Given the description of an element on the screen output the (x, y) to click on. 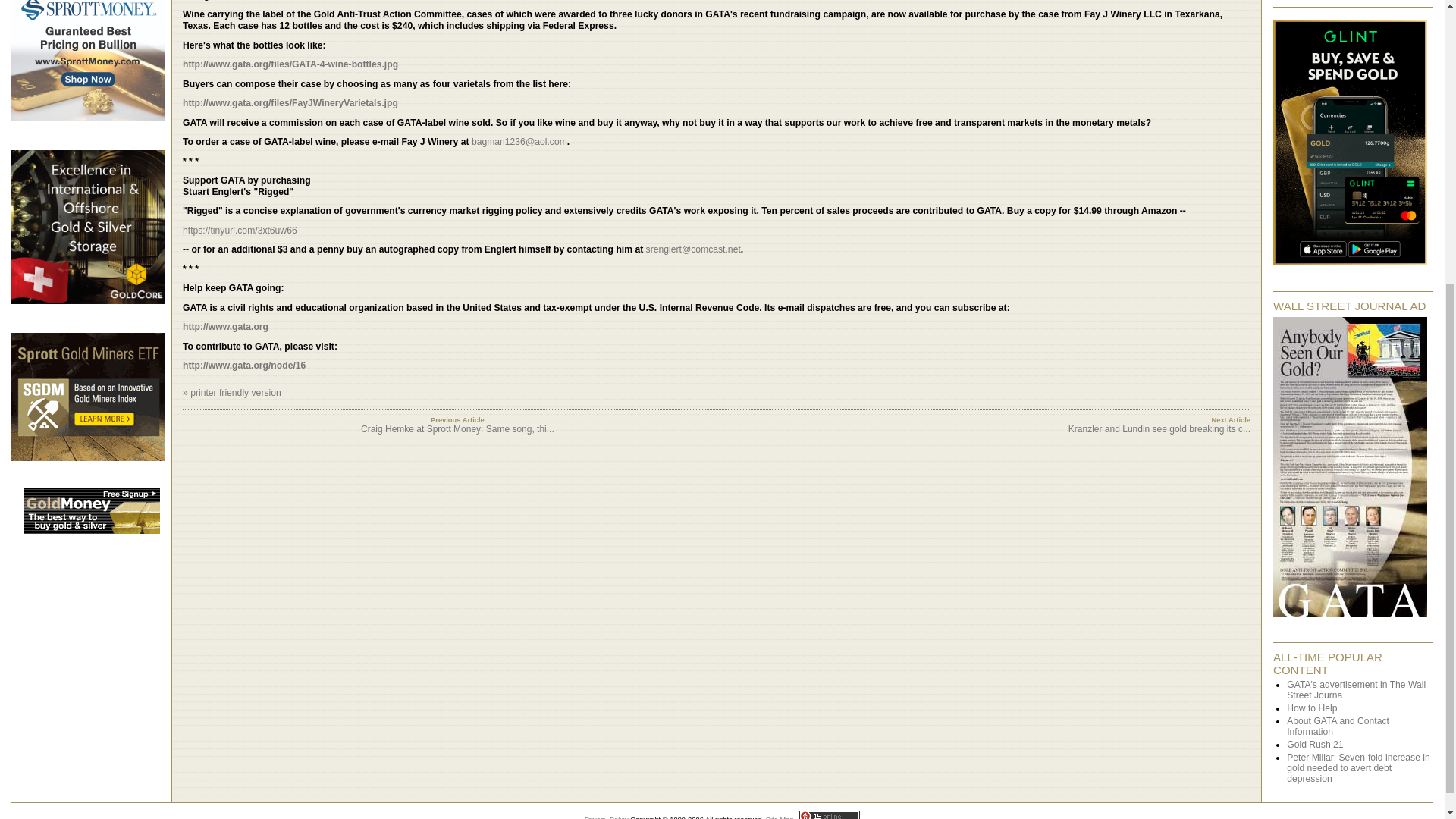
Kranzler and Lundin see gold breaking its c... (1159, 429)
Craig Hemke at Sprott Money: Same song, thi... (457, 429)
Display a printer-friendly version of this page. (235, 392)
printer friendly version (235, 392)
